Given the description of an element on the screen output the (x, y) to click on. 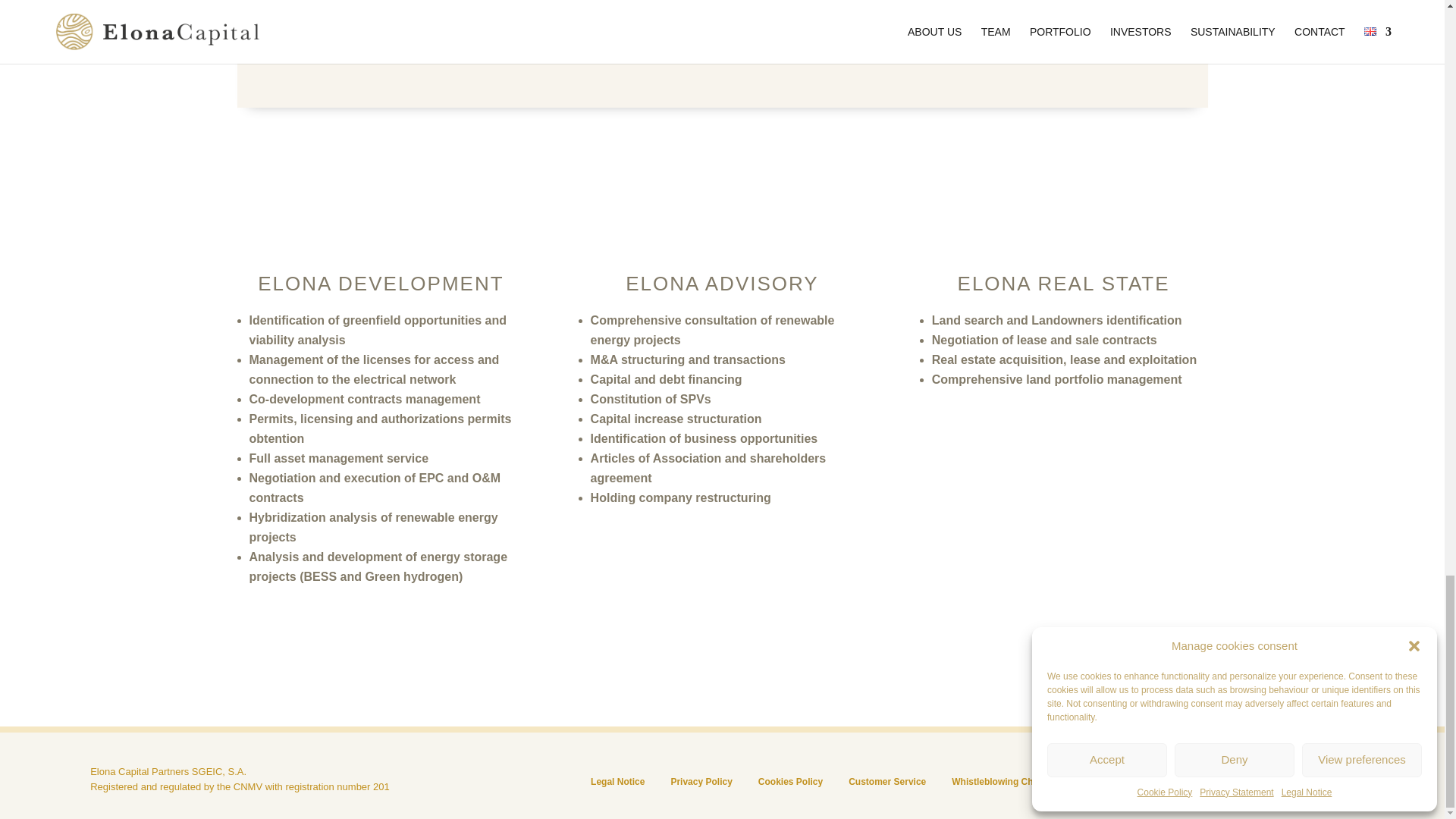
Whistleblowing Channel (1003, 781)
Privacy Policy (701, 781)
Cookies Policy (790, 781)
Customer Service (887, 781)
Follow us in (1335, 789)
Legal Notice (616, 781)
